Given the description of an element on the screen output the (x, y) to click on. 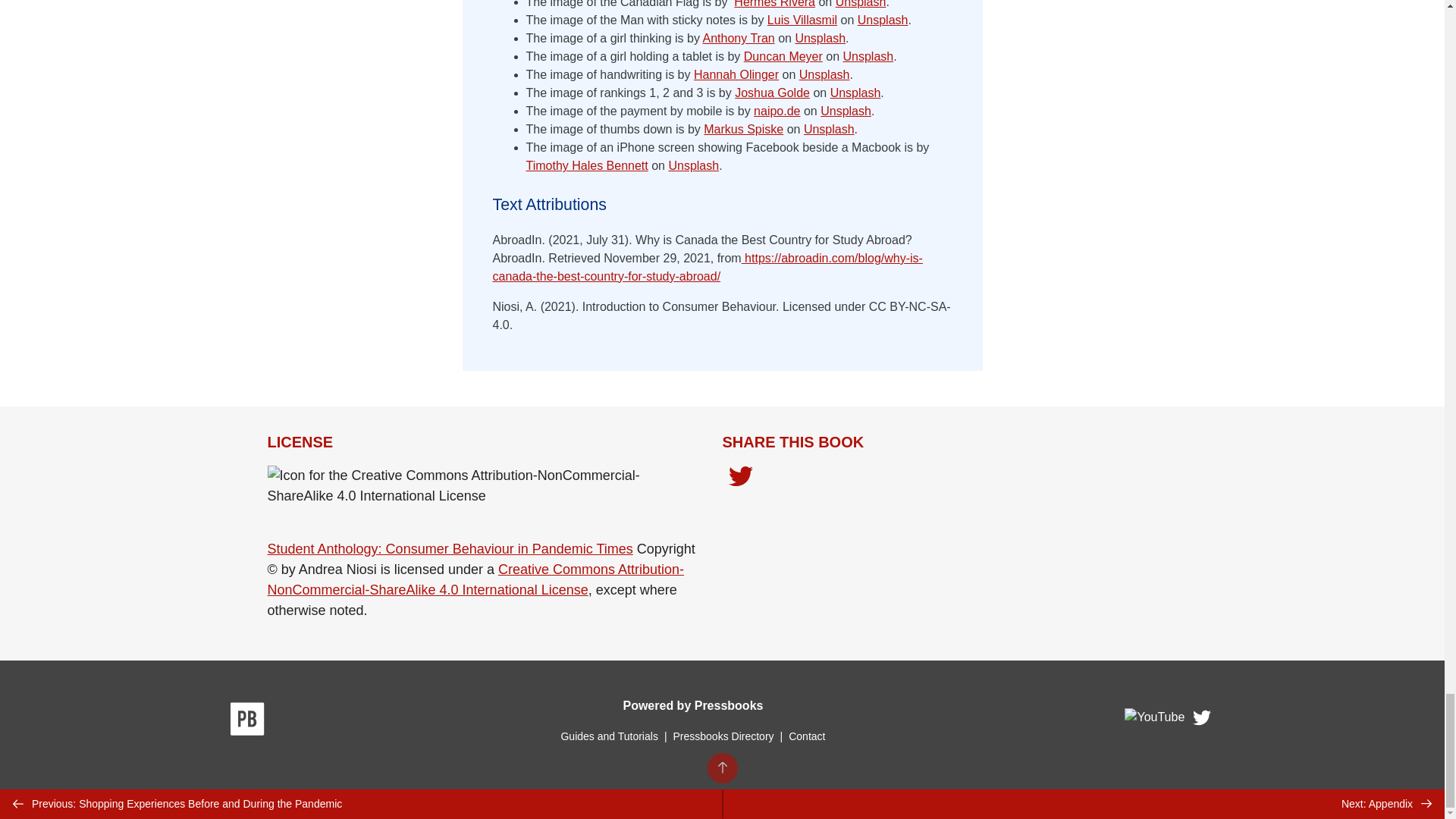
Guides and Tutorials (608, 736)
Powered by Pressbooks (692, 705)
Share on Twitter (740, 477)
Anthony Tran (738, 38)
Hannah Olinger (736, 74)
Markus Spiske (743, 128)
Hermes Rivera (774, 4)
Luis Villasmil (802, 19)
Duncan Meyer (783, 56)
Student Anthology: Consumer Behaviour in Pandemic Times (448, 548)
